Given the description of an element on the screen output the (x, y) to click on. 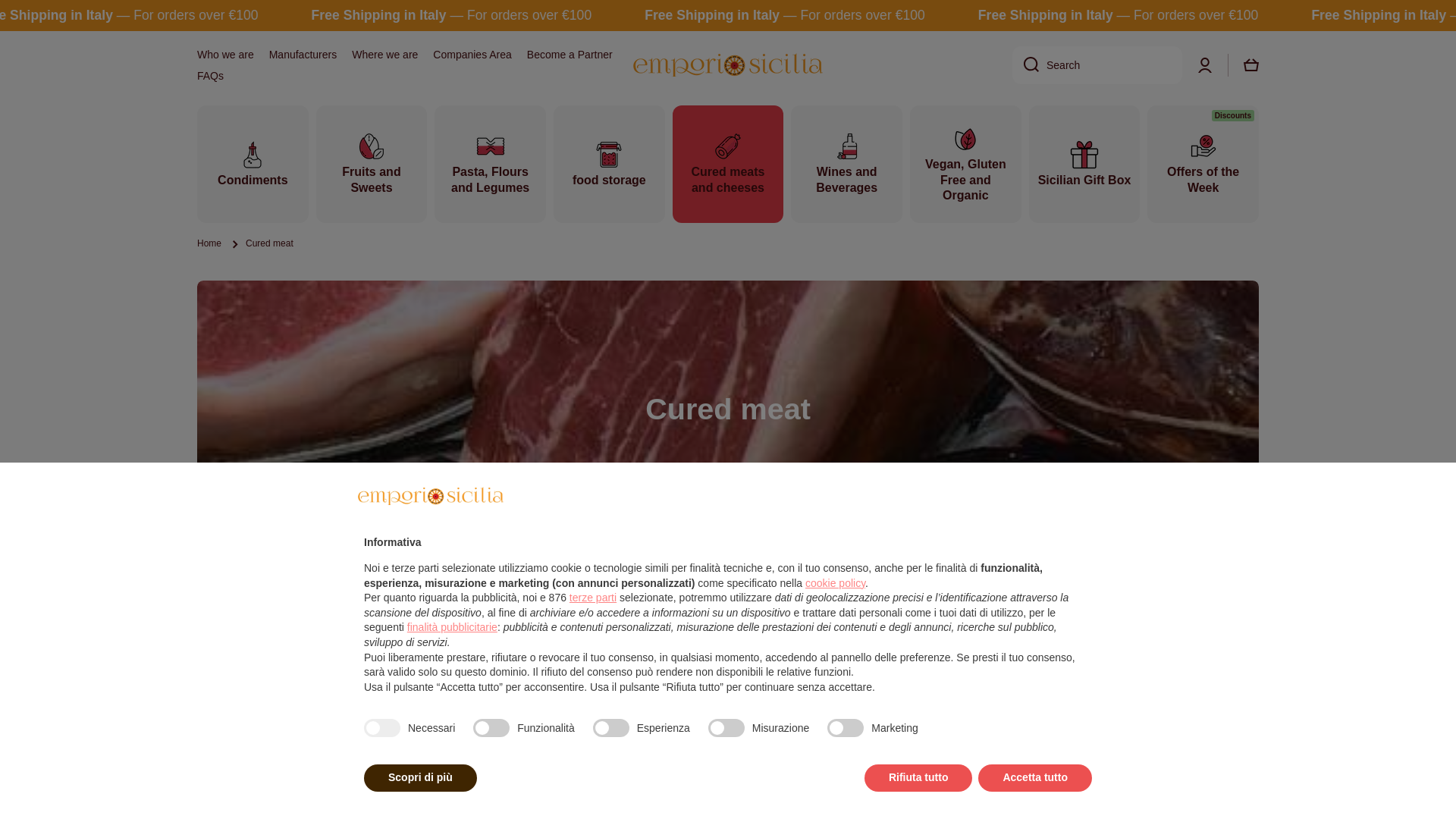
false (491, 728)
tasty trails buy online (945, 684)
false (725, 728)
cured meat mill buy online (851, 684)
true (382, 728)
false (610, 728)
false (845, 728)
